Given the description of an element on the screen output the (x, y) to click on. 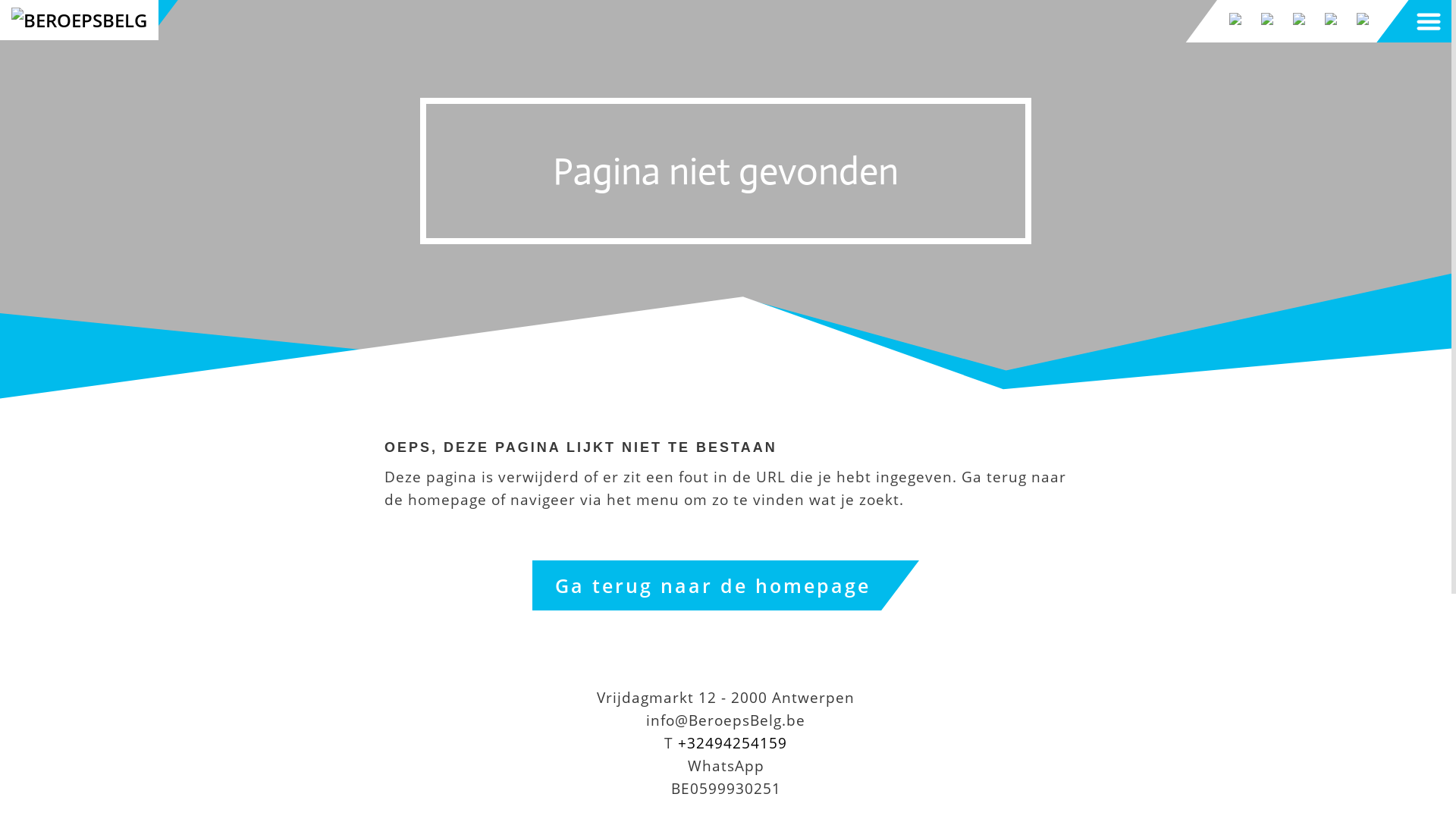
Ga terug naar de homepage Element type: text (725, 585)
BE0599930251 Element type: text (725, 788)
+32494254159 Element type: text (732, 743)
WhatsApp Element type: text (725, 765)
BeroepsBelg Element type: hover (79, 20)
info@BeroepsBelg.be Element type: text (725, 720)
BeroepsBelg Facebook Element type: hover (1296, 18)
Vrijdagmarkt 12 - 2000 Antwerpen Element type: text (725, 697)
BeroepsBelg Instagram Element type: hover (1328, 18)
BeroepsBelg Tiktok Element type: hover (1232, 18)
BeroepsBelg Youtube Element type: hover (1264, 18)
BeroepsBelg Tripadvisor Element type: hover (1360, 18)
